Given the description of an element on the screen output the (x, y) to click on. 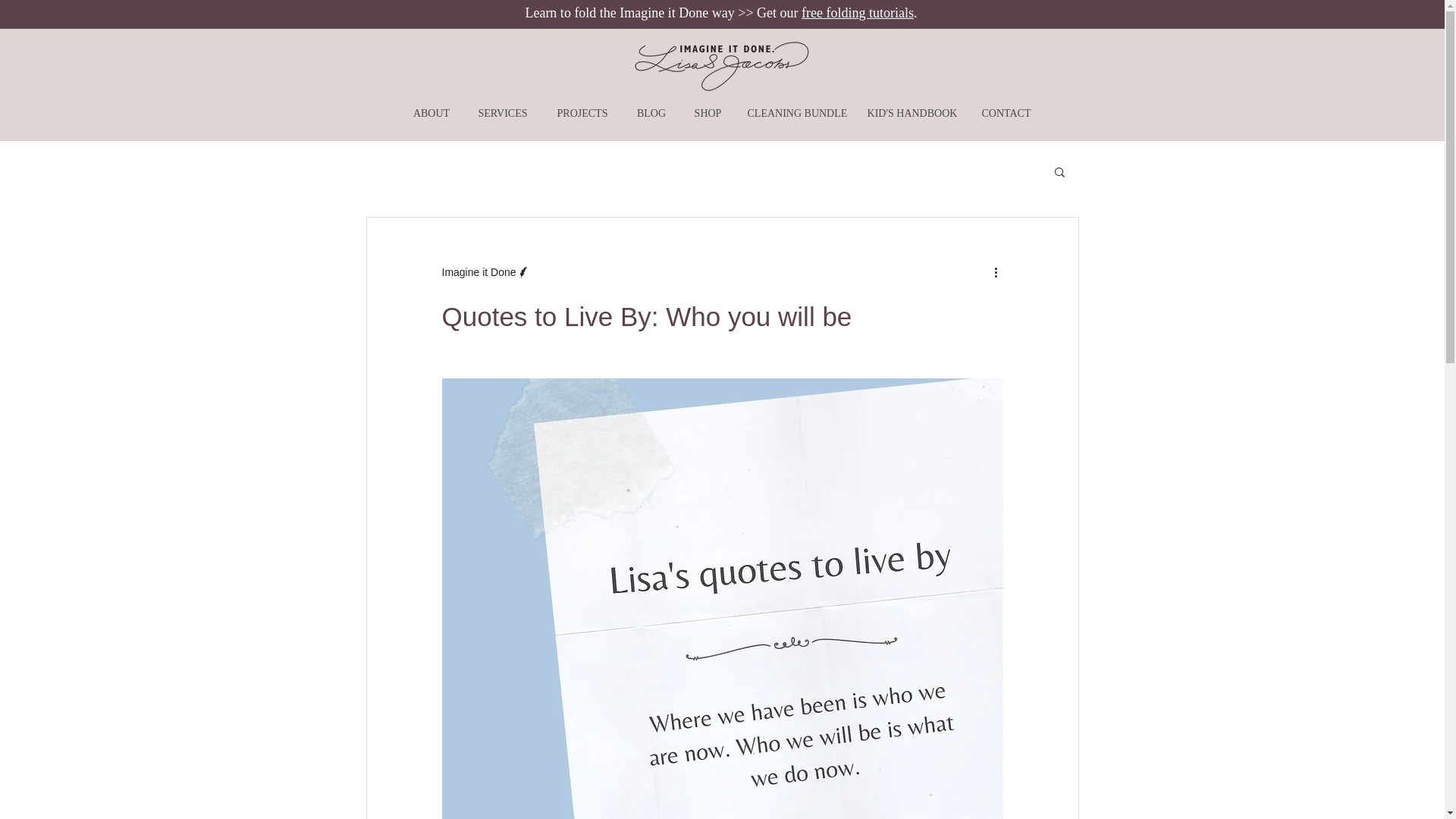
SERVICES (502, 112)
SHOP (707, 112)
CONTACT (1006, 112)
ABOUT (430, 112)
free folding tutorials (858, 12)
PROJECTS (582, 112)
Imagine it Done (478, 272)
BLOG (651, 112)
KID'S HANDBOOK (912, 112)
